Given the description of an element on the screen output the (x, y) to click on. 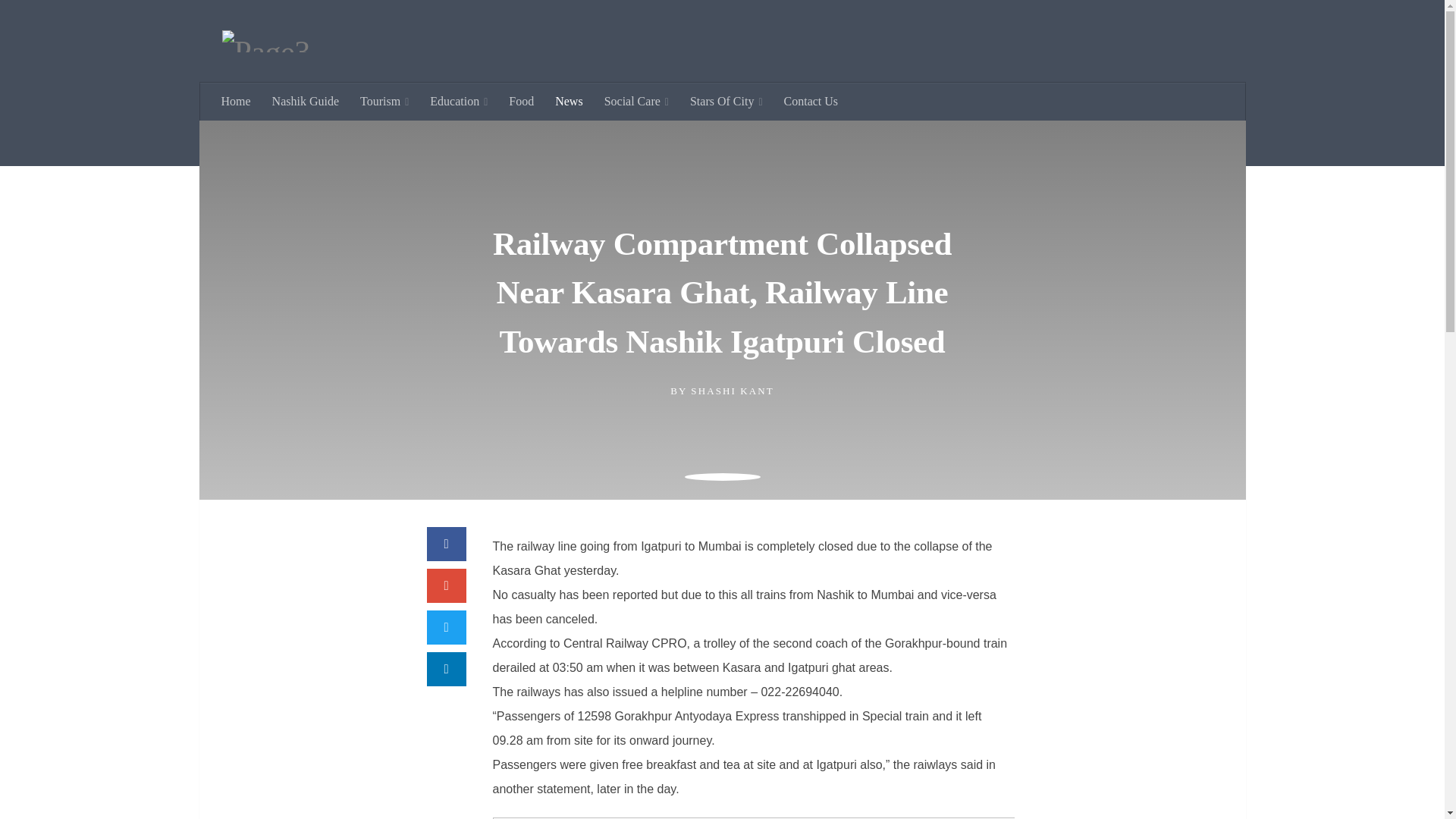
Nashik Guide (305, 125)
Stars Of City (726, 125)
Social Care (636, 125)
Food (520, 125)
Skip to content (59, 20)
Education (458, 125)
News (568, 125)
Tourism (384, 125)
Home (236, 125)
